Given the description of an element on the screen output the (x, y) to click on. 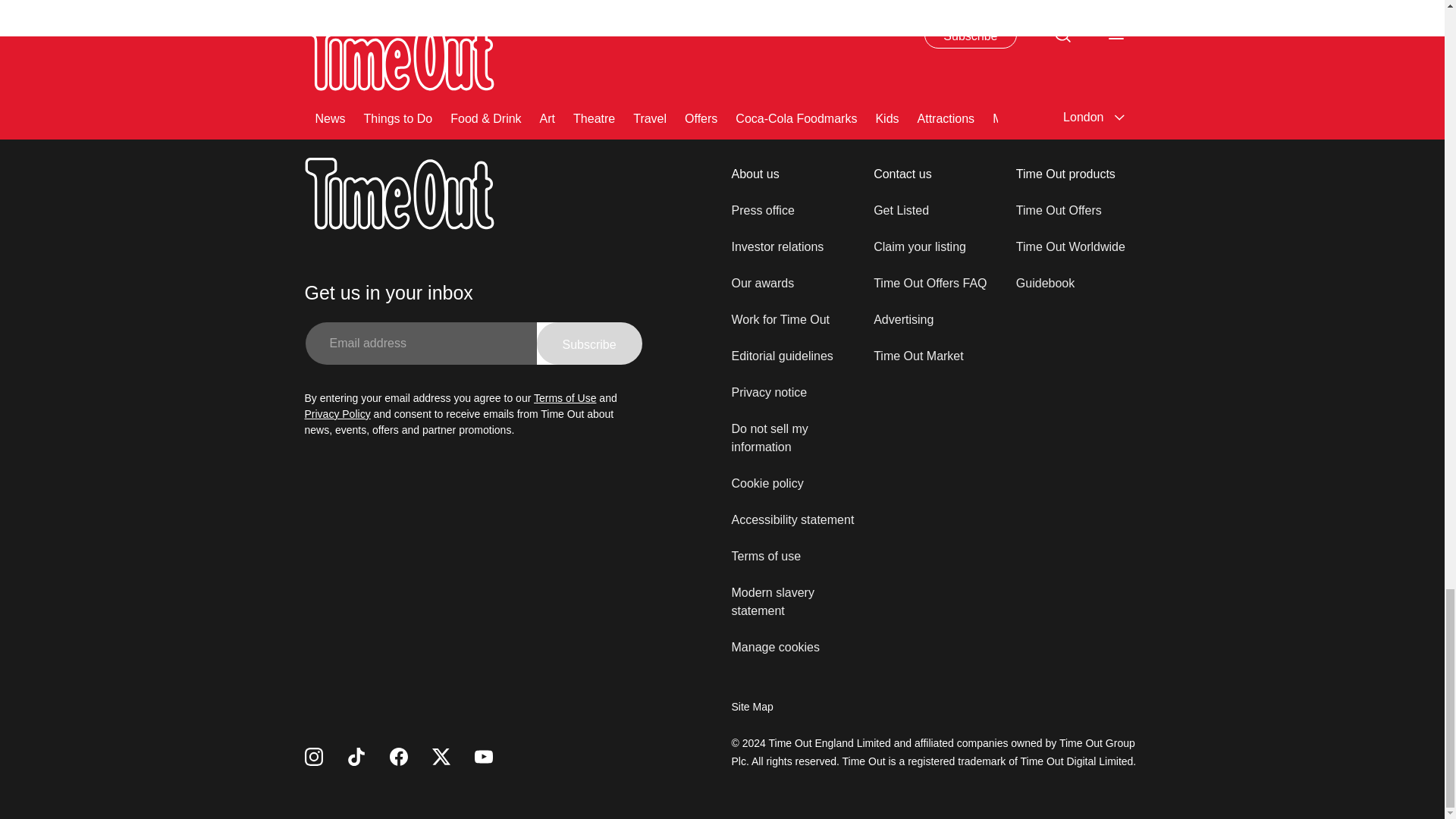
Subscribe (589, 343)
